Given the description of an element on the screen output the (x, y) to click on. 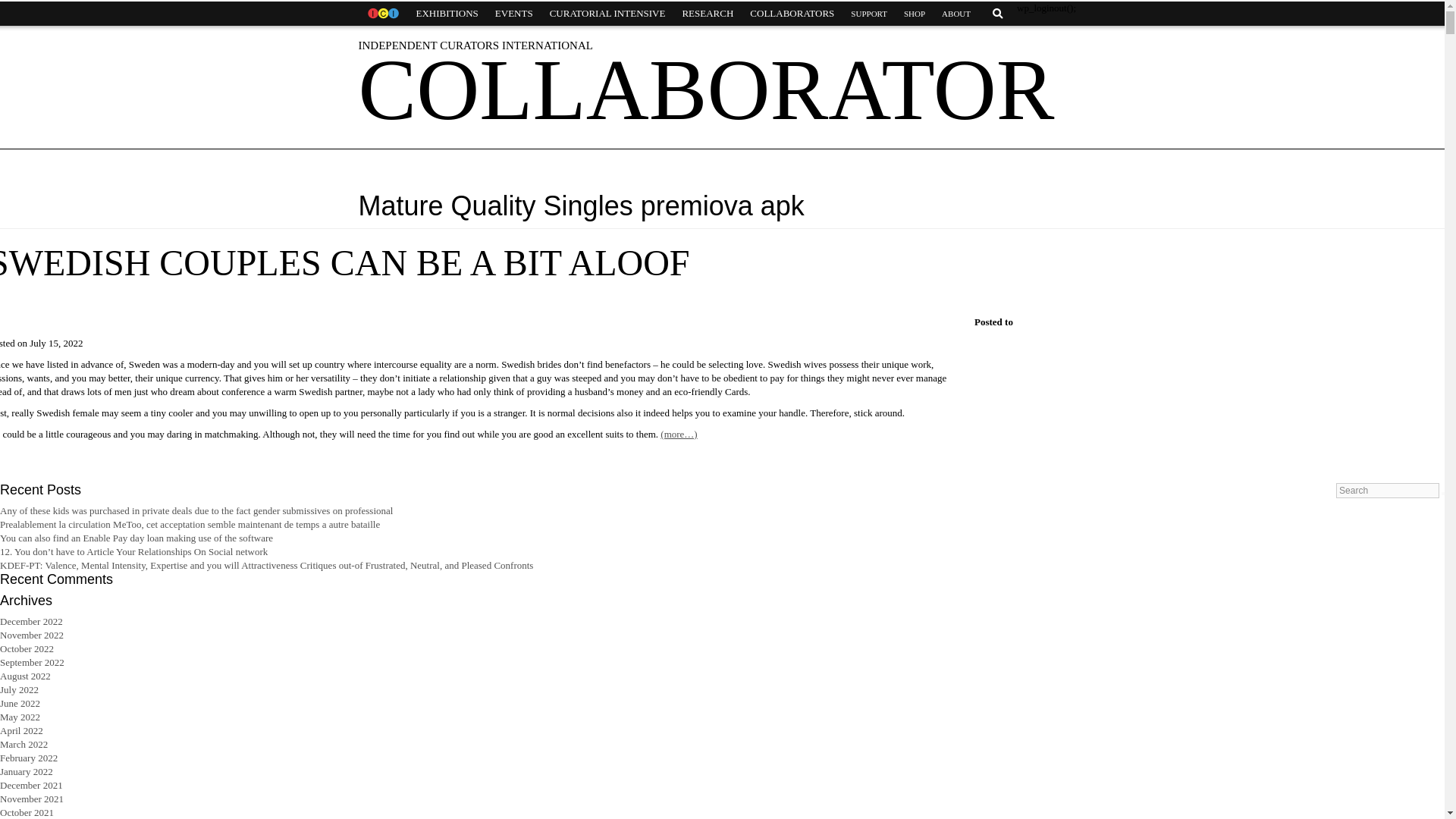
HOME (382, 13)
EXHIBITIONS (446, 13)
EVENTS (513, 13)
RESEARCH (706, 13)
COLLABORATORS (792, 13)
CURATORIAL INTENSIVE (607, 13)
